Given the description of an element on the screen output the (x, y) to click on. 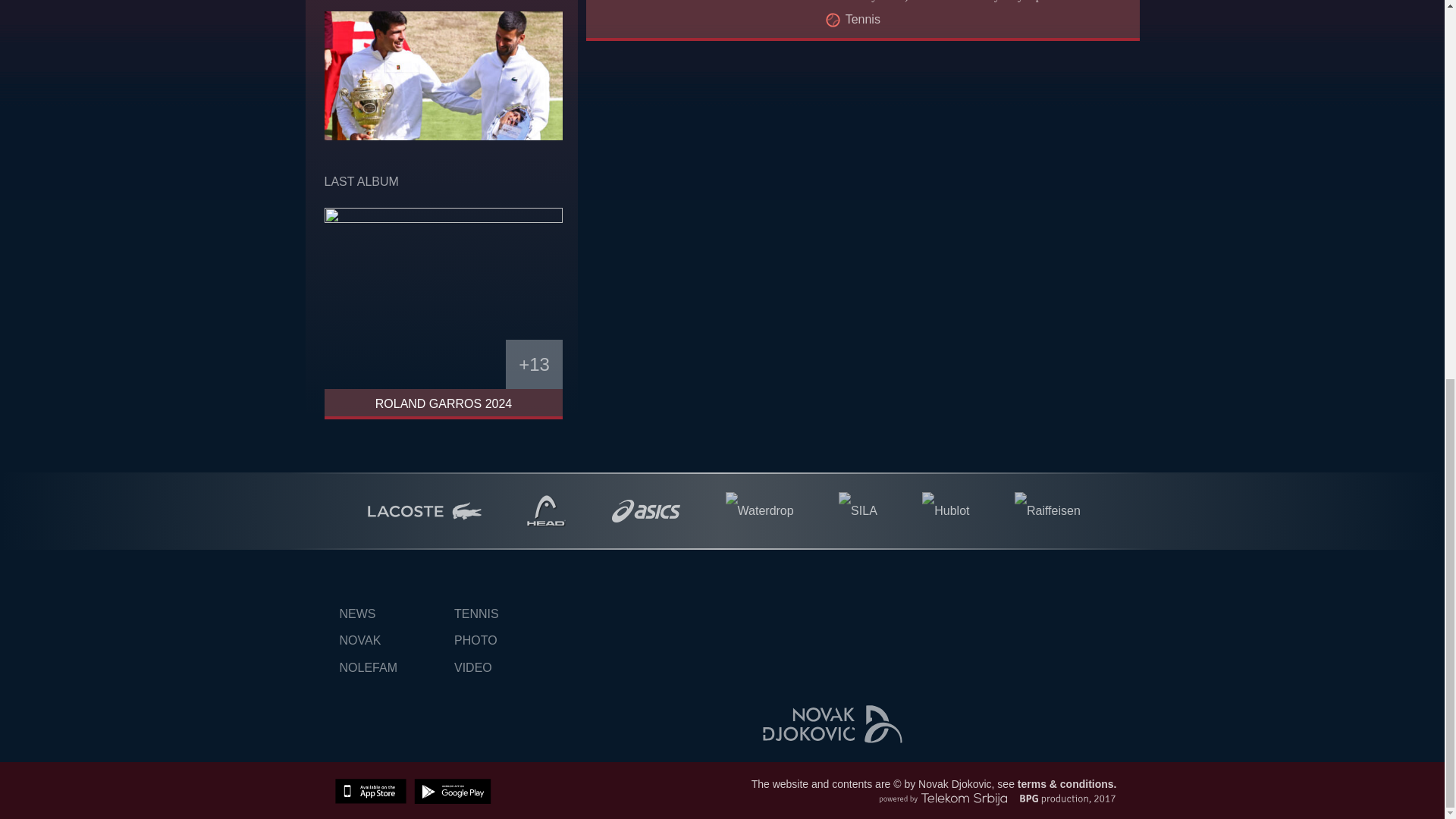
Tennis (862, 19)
View all posts filed under Tennis (862, 19)
ATP Cup groups announced (695, 31)
